Given the description of an element on the screen output the (x, y) to click on. 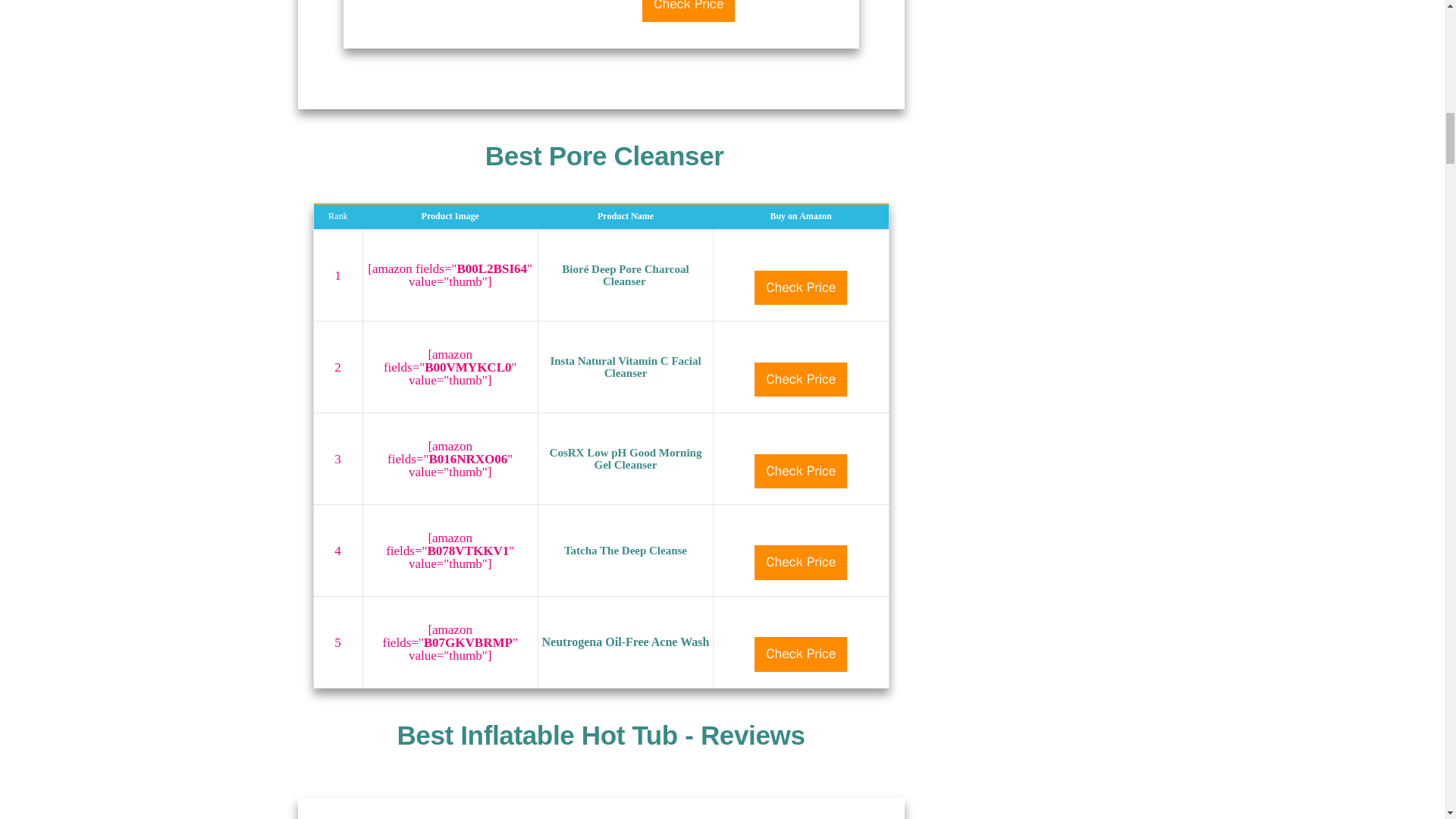
amazon (800, 622)
amazon (800, 255)
amazon (800, 439)
Check Price (688, 11)
amazon (800, 347)
amazon (800, 530)
